Given the description of an element on the screen output the (x, y) to click on. 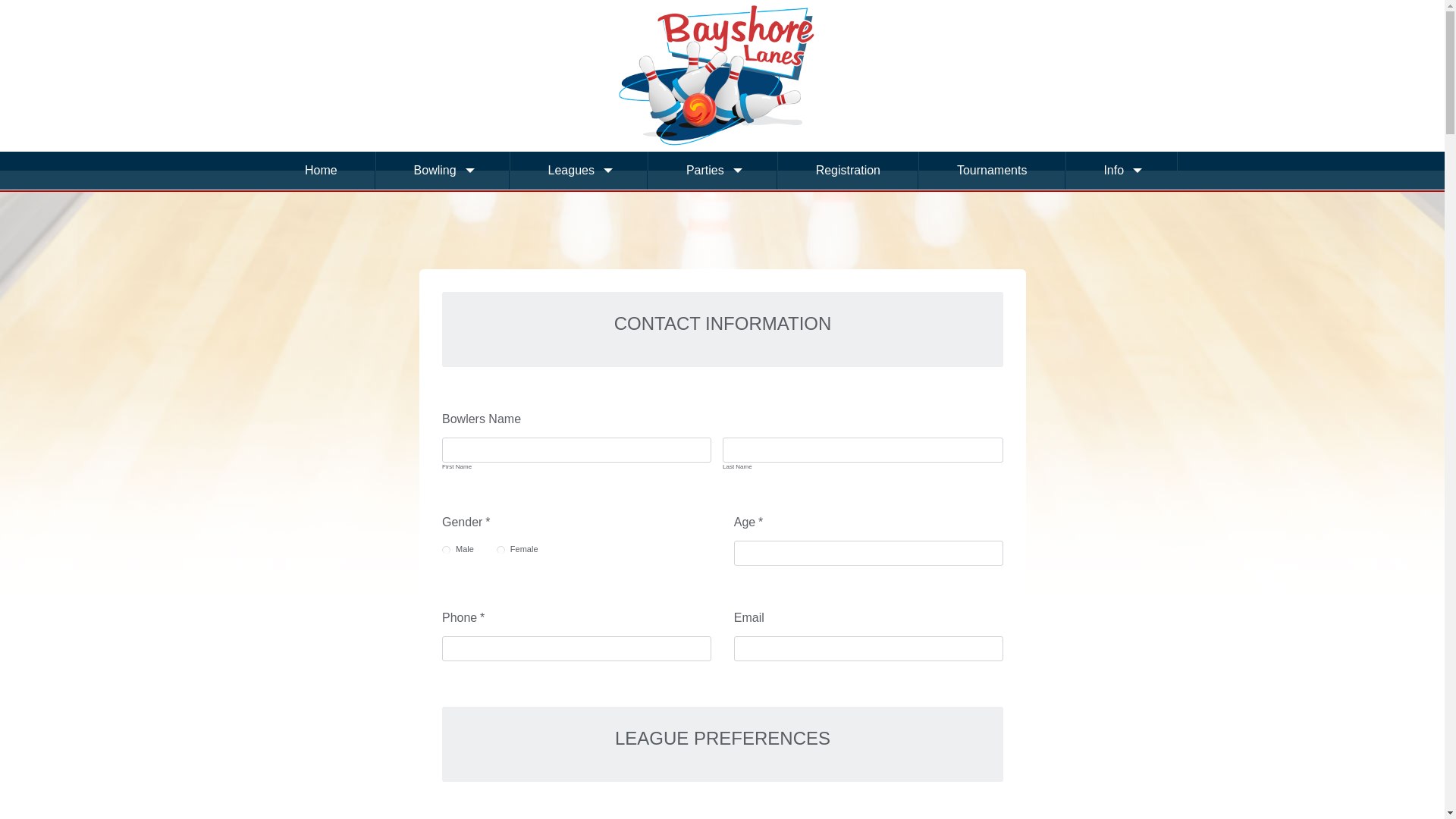
Leagues Element type: text (578, 170)
Bowling Element type: text (442, 170)
Tournaments Element type: text (991, 170)
Info Element type: text (1121, 170)
Parties Element type: text (712, 170)
Home Element type: text (320, 170)
Registration Element type: text (847, 170)
